Given the description of an element on the screen output the (x, y) to click on. 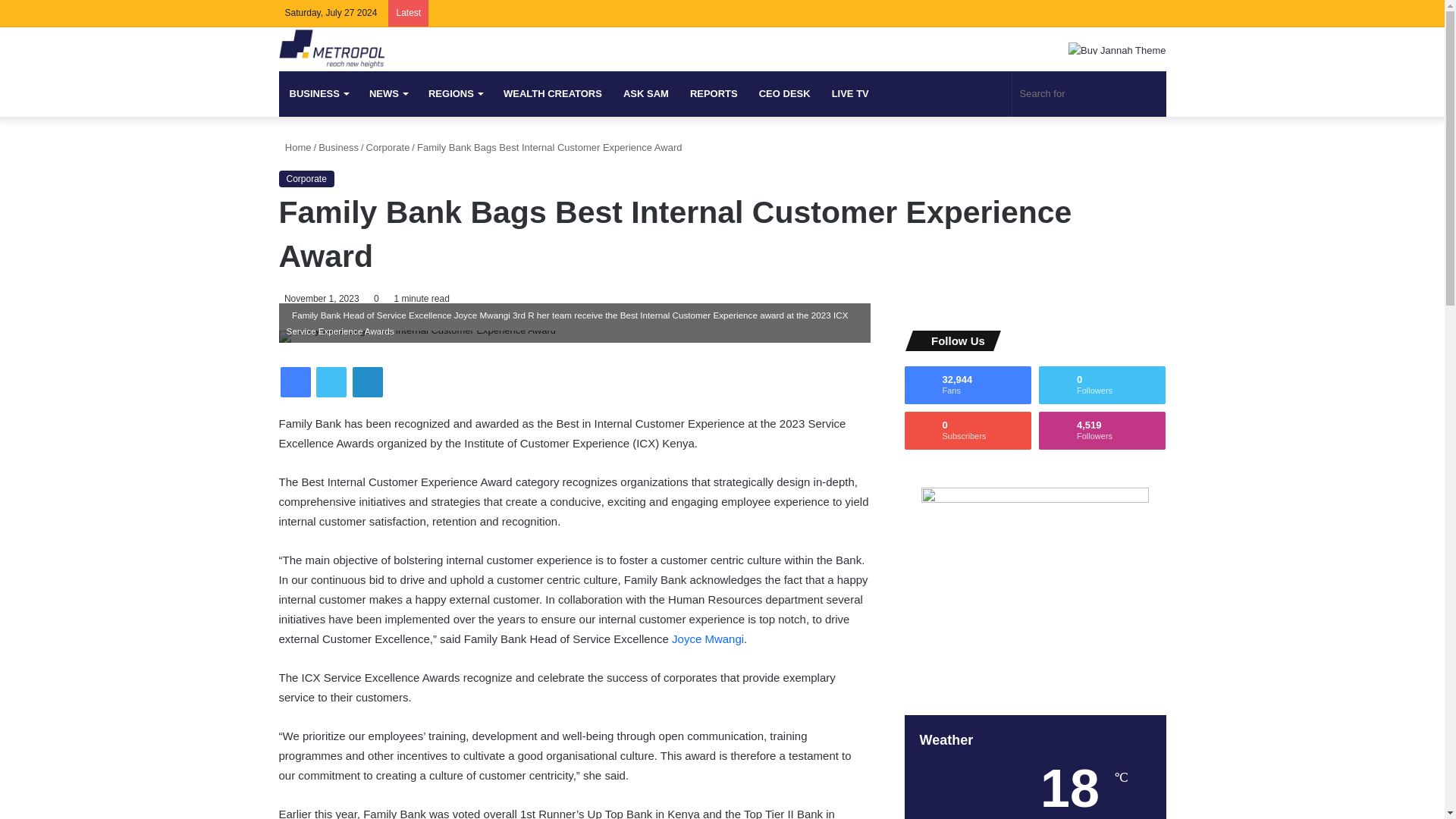
LinkedIn (1131, 13)
LIVE TV (850, 94)
LinkedIn (367, 381)
WEALTH CREATORS (552, 94)
ASK SAM (645, 94)
NEWS (387, 94)
Twitter (1109, 13)
Metropol Digital (331, 49)
Instagram (1154, 13)
Twitter (330, 381)
REGIONS (455, 94)
BUSINESS (318, 94)
Facebook (1086, 13)
REPORTS (713, 94)
Search for (1088, 94)
